Given the description of an element on the screen output the (x, y) to click on. 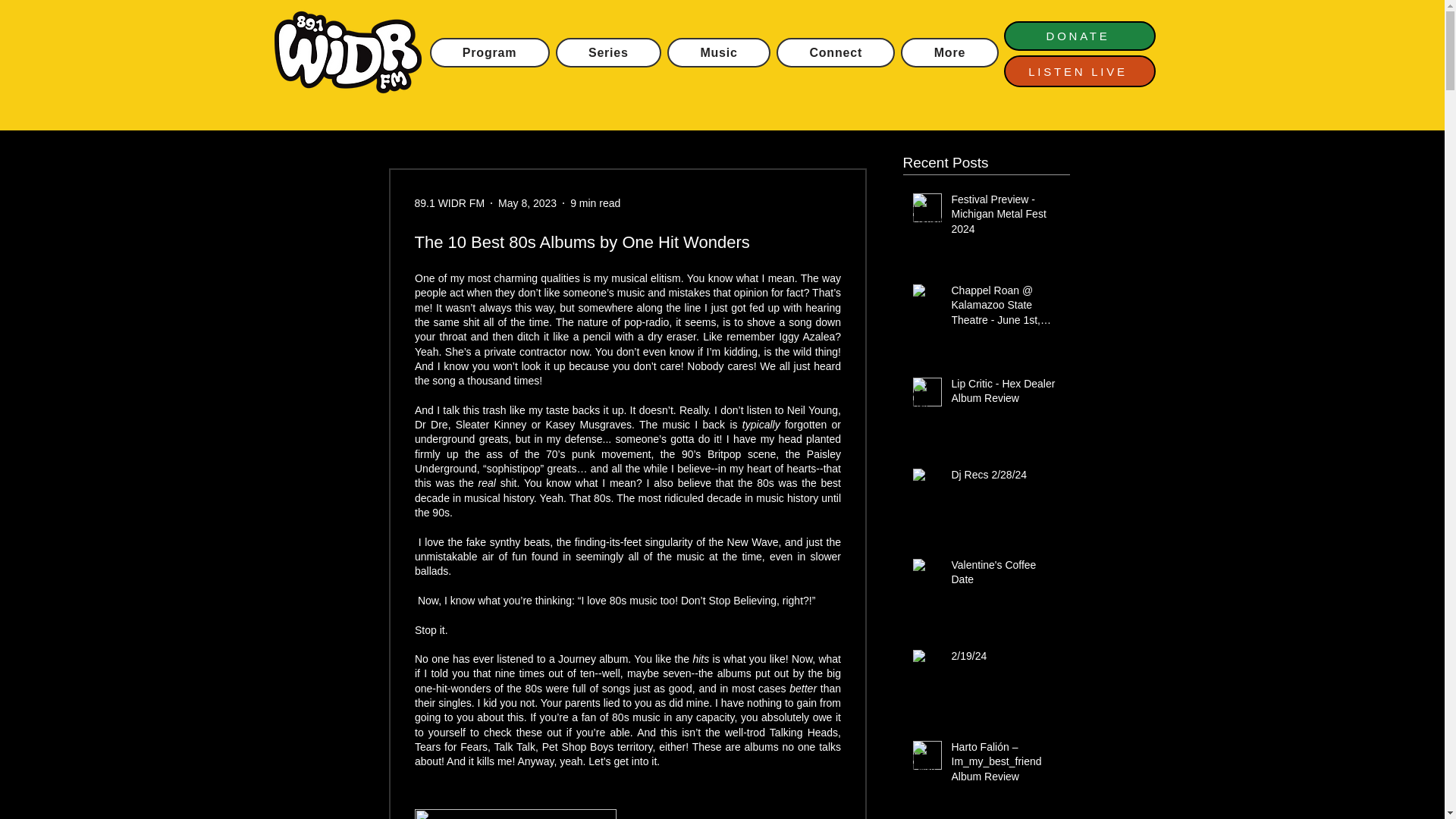
More (949, 52)
LISTEN LIVE (1080, 70)
Music (718, 52)
89.1 WIDR FM (448, 203)
89.1 WIDR FM (448, 203)
Series (609, 52)
9 min read (595, 203)
Connect (835, 52)
DONATE (1080, 35)
Program (488, 52)
